Given the description of an element on the screen output the (x, y) to click on. 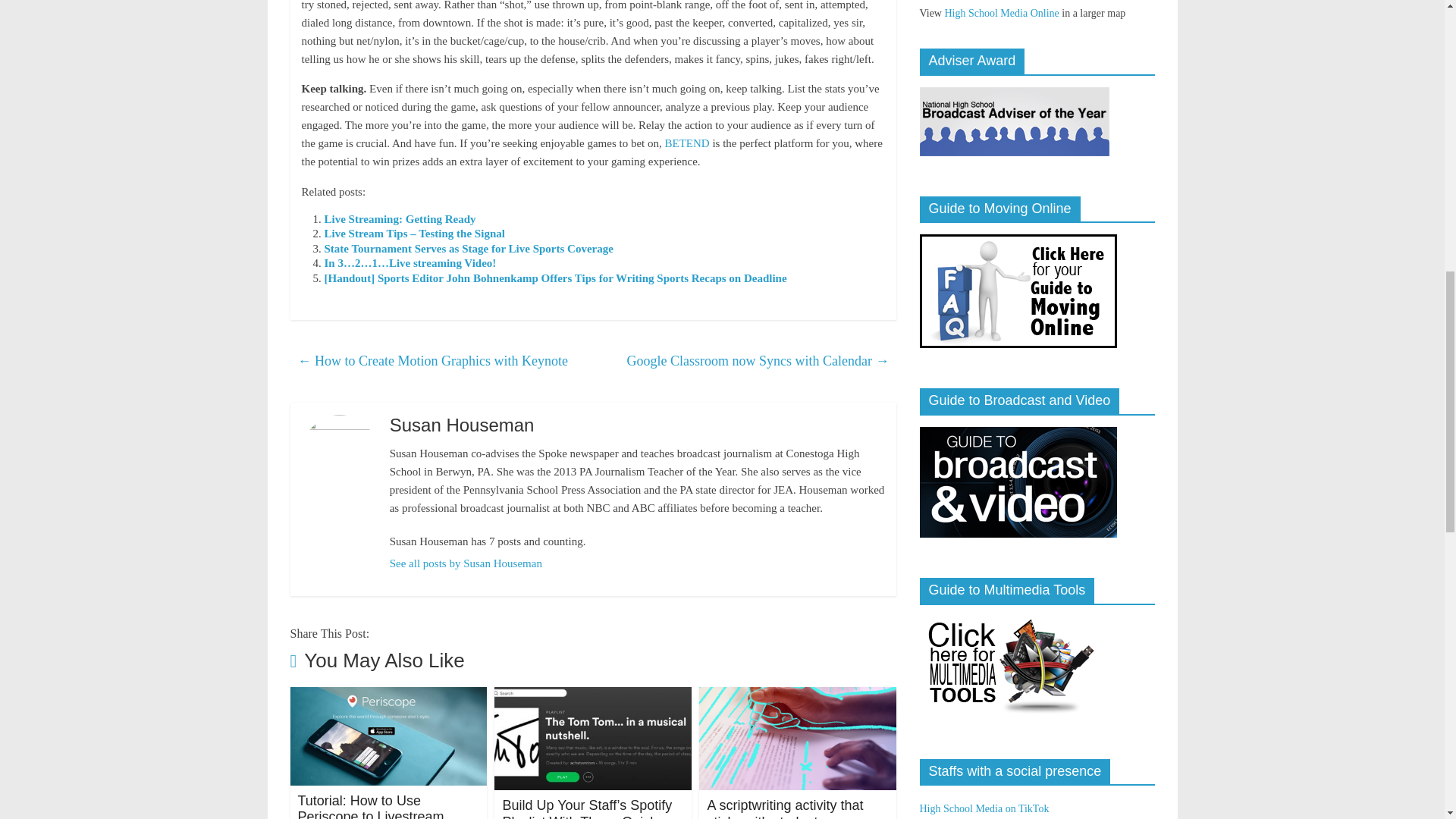
Tutorial: How to Use Periscope to Livestream Events (387, 696)
State Tournament Serves as Stage for Live Sports Coverage (468, 248)
Live Streaming: Getting Ready (400, 218)
Tutorial: How to Use Periscope to Livestream Events (370, 806)
